Given the description of an element on the screen output the (x, y) to click on. 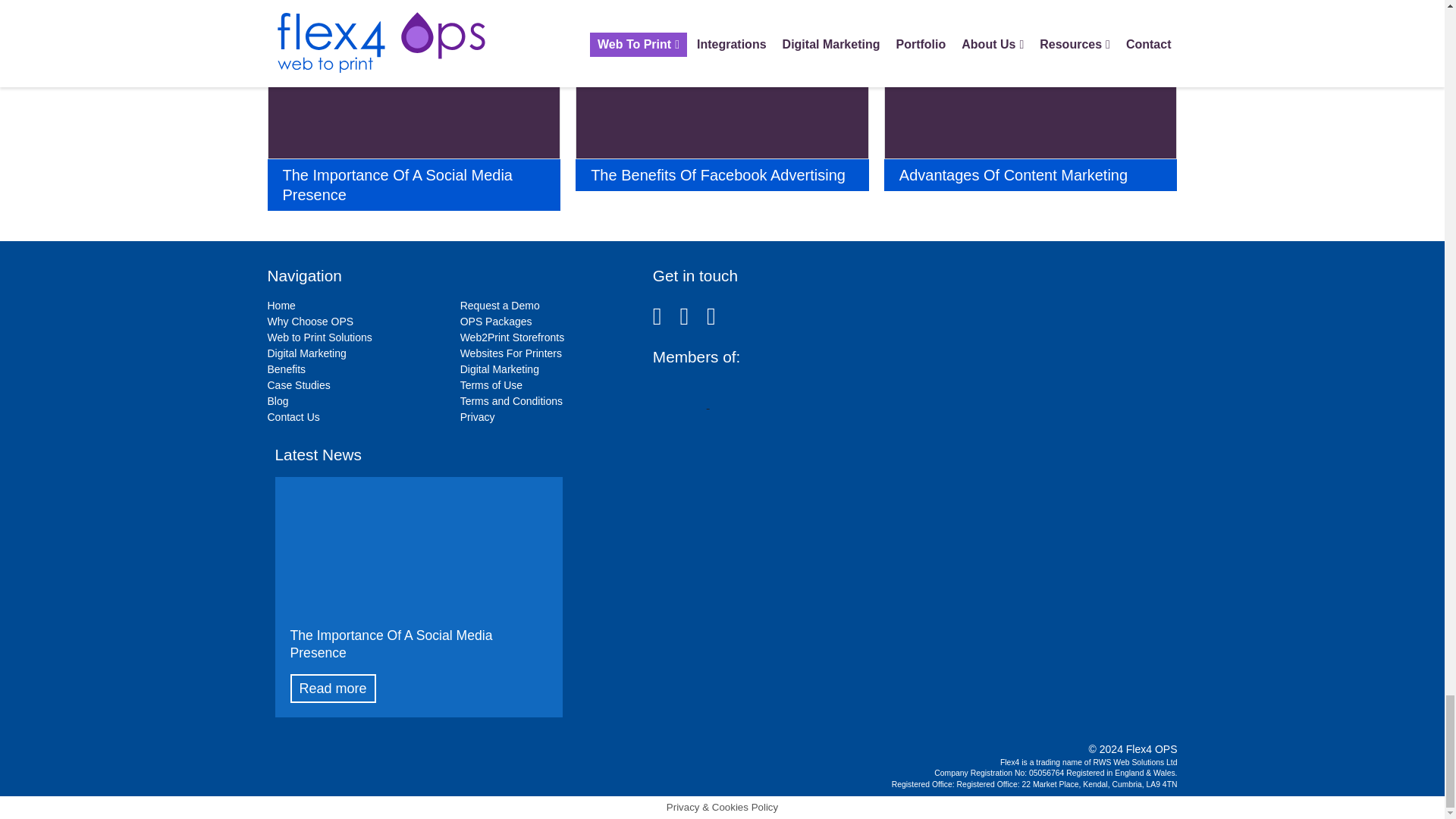
The Benefits Of Facebook Advertising (722, 109)
The Importance Of A Social Media Presence (413, 109)
Advantages Of Content Marketing (1030, 109)
